Given the description of an element on the screen output the (x, y) to click on. 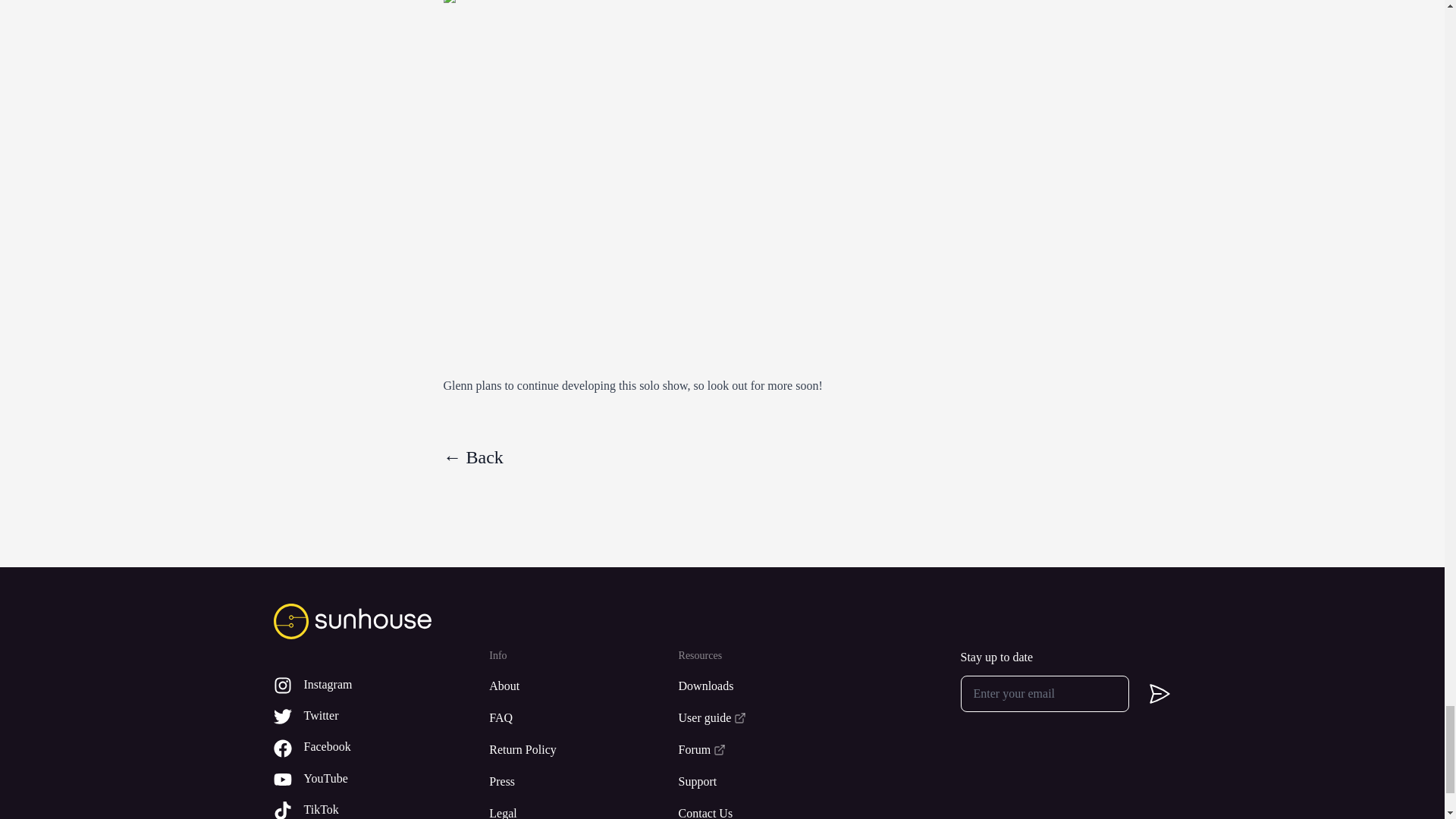
FAQ (565, 718)
About (565, 686)
Press (565, 782)
Return Policy (565, 750)
Legal (565, 811)
YouTube (362, 778)
Instagram (362, 684)
TikTok (362, 809)
Twitter (362, 715)
Facebook (362, 746)
